Given the description of an element on the screen output the (x, y) to click on. 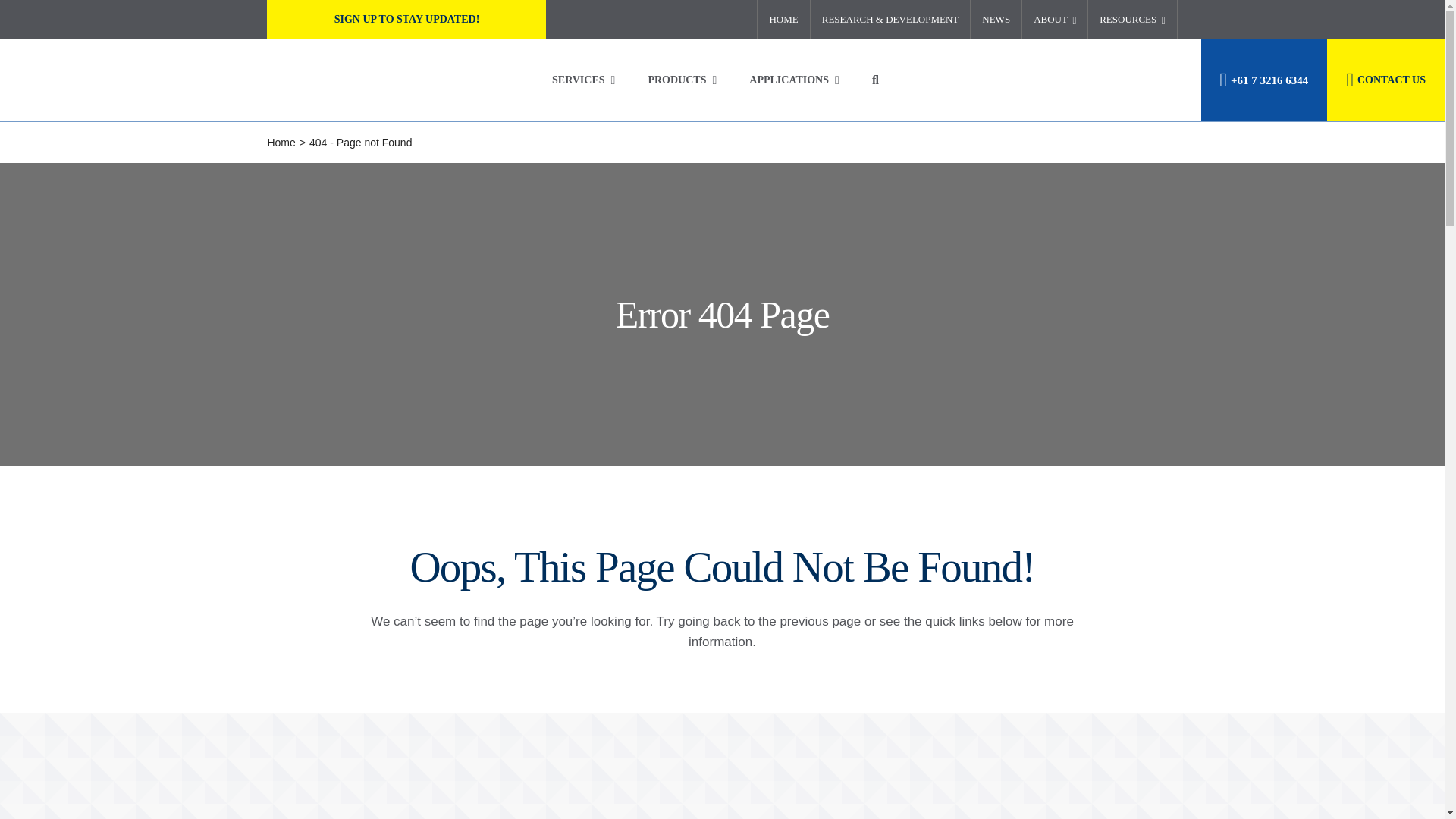
ABOUT (1054, 19)
NEWS (996, 19)
1 (104, 79)
PRODUCTS (684, 80)
HOME (783, 19)
SERVICES (586, 80)
RESOURCES (1131, 19)
APPLICATIONS (797, 80)
